Given the description of an element on the screen output the (x, y) to click on. 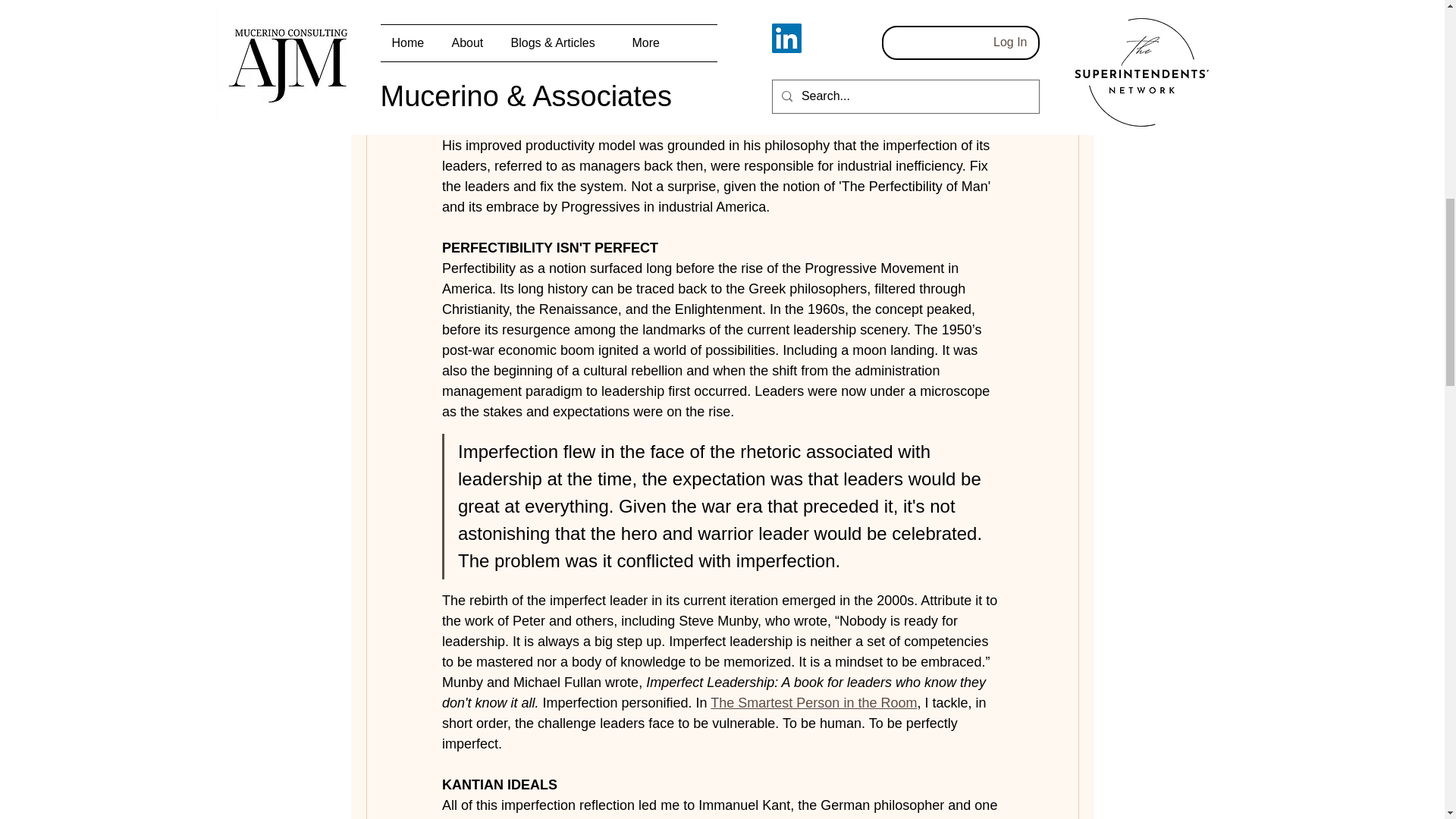
The Smartest Person in the Room (813, 702)
